Given the description of an element on the screen output the (x, y) to click on. 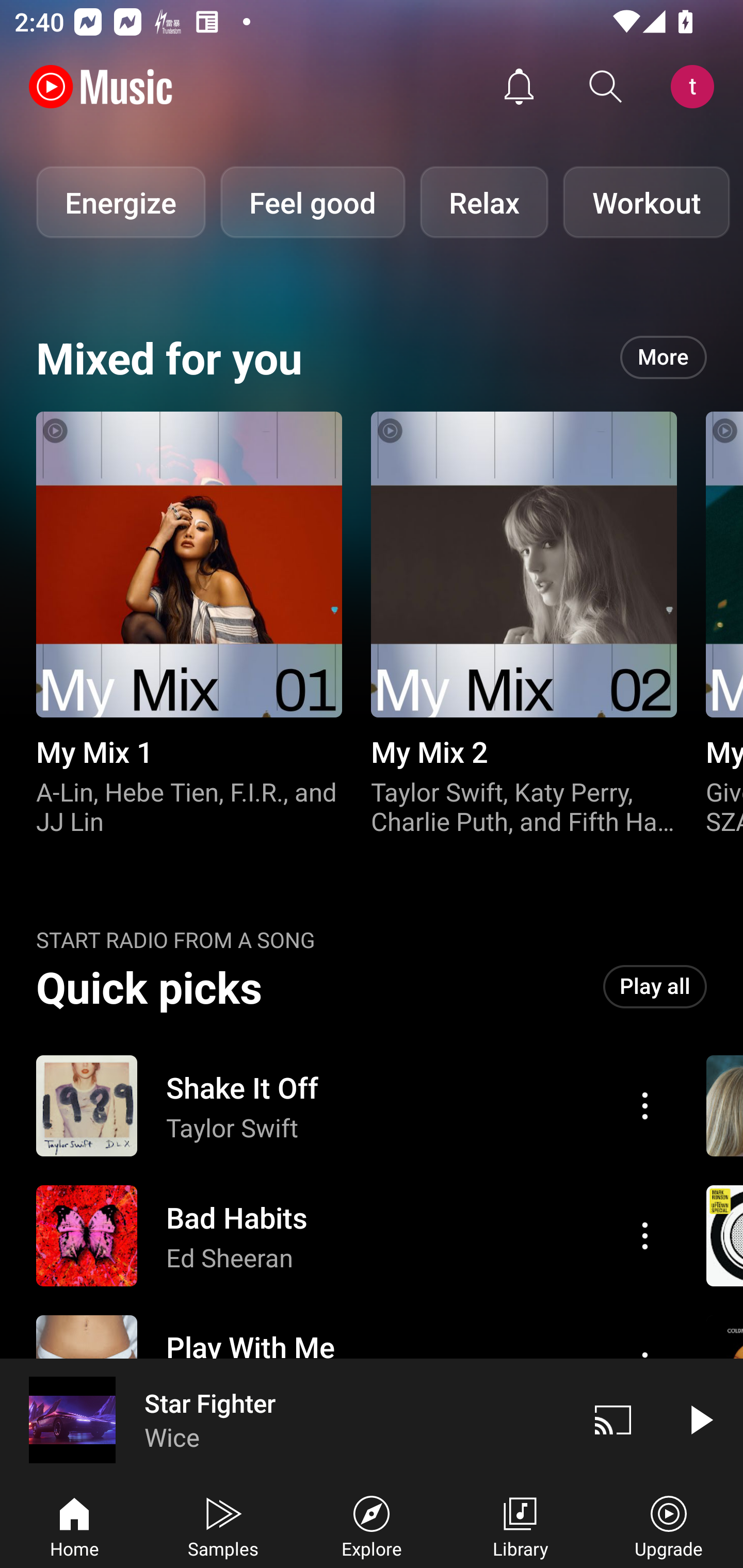
Activity feed (518, 86)
Search (605, 86)
Account (696, 86)
Action menu (349, 1106)
Action menu (644, 1106)
Action menu (349, 1236)
Action menu (644, 1235)
Star Fighter Wice (284, 1419)
Cast. Disconnected (612, 1419)
Play video (699, 1419)
Home (74, 1524)
Samples (222, 1524)
Explore (371, 1524)
Library (519, 1524)
Upgrade (668, 1524)
